Given the description of an element on the screen output the (x, y) to click on. 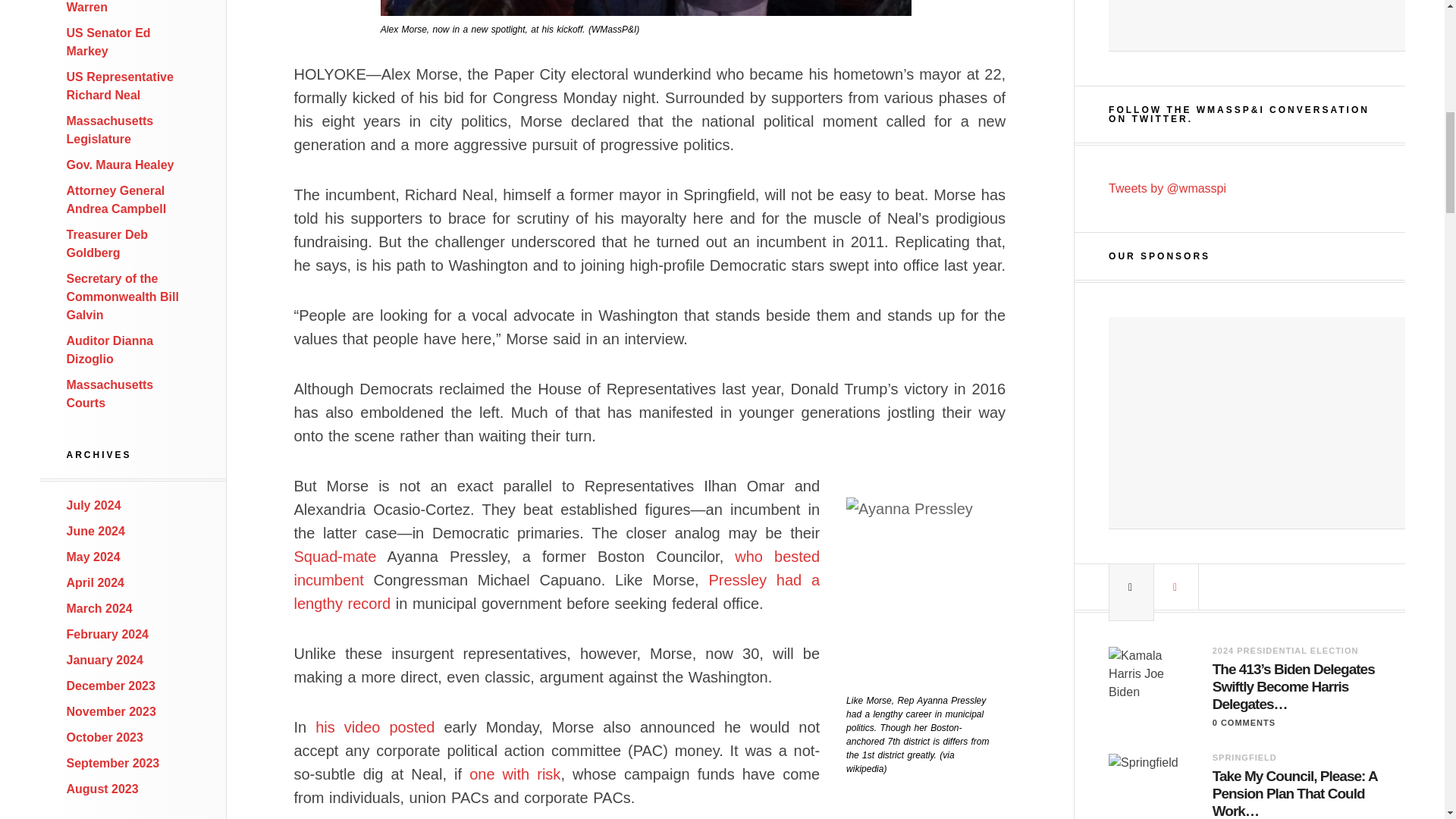
Secretary of the Commonwealth Bill Galvin (122, 296)
June 2024 (95, 530)
Attorney General Andrea Campbell (116, 199)
Gov. Maura Healey (120, 164)
Advertisement (1256, 422)
Treasurer Deb Goldberg (107, 243)
Advertisement (1256, 25)
Auditor Dianna Dizoglio (110, 349)
Massachusetts Legislature (110, 129)
Latest Posts (1131, 586)
US Representative Richard Neal (119, 85)
US Senator Ed Markey (108, 41)
July 2024 (93, 504)
Tag Cloud (1175, 586)
US Senator Elizabeth Warren (127, 6)
